Given the description of an element on the screen output the (x, y) to click on. 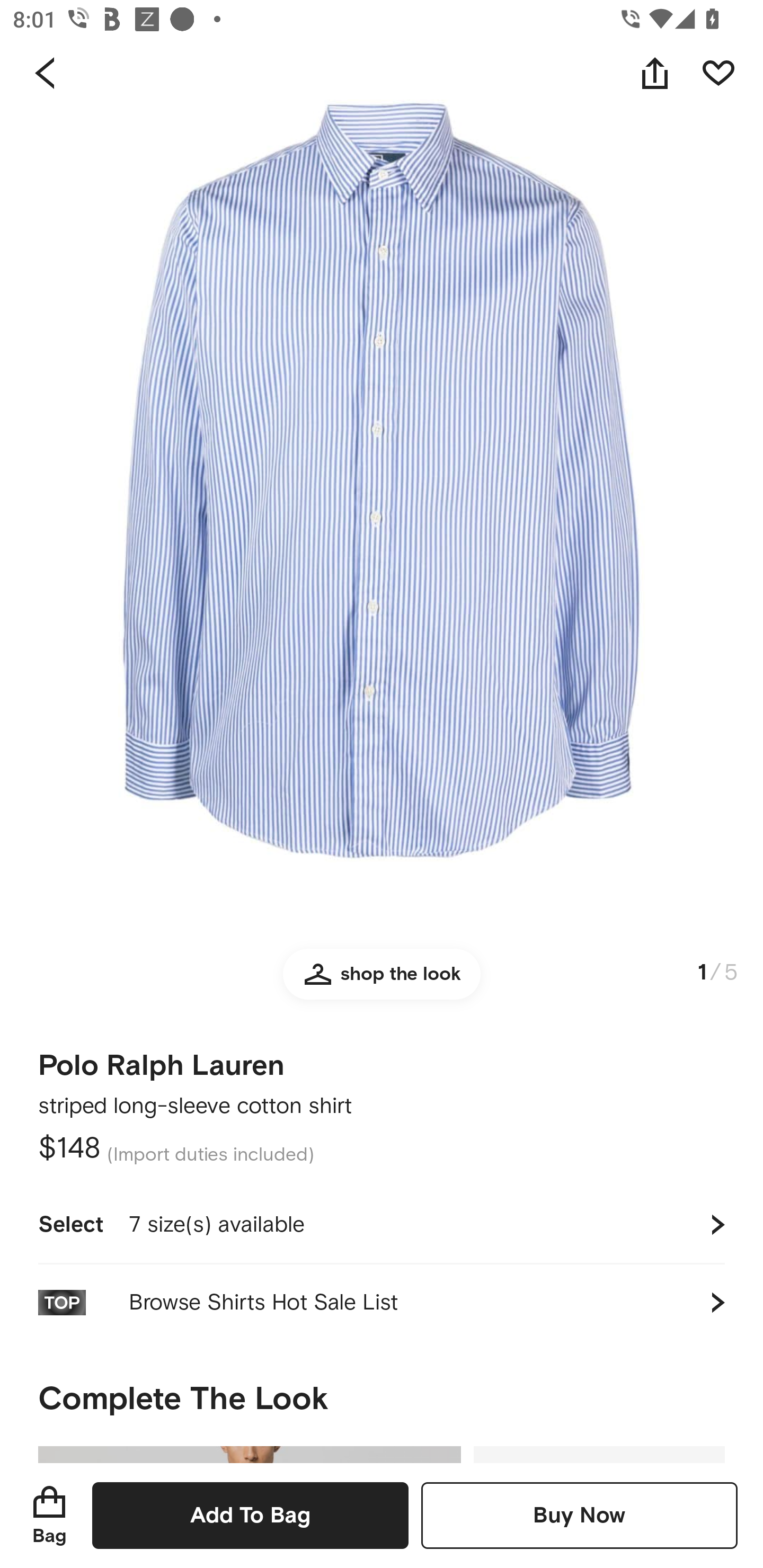
shop the look (381, 982)
Polo Ralph Lauren (161, 1059)
Select 7 size(s) available (381, 1224)
Browse Shirts Hot Sale List (381, 1301)
Bag (49, 1515)
Add To Bag (250, 1515)
Buy Now (579, 1515)
